Given the description of an element on the screen output the (x, y) to click on. 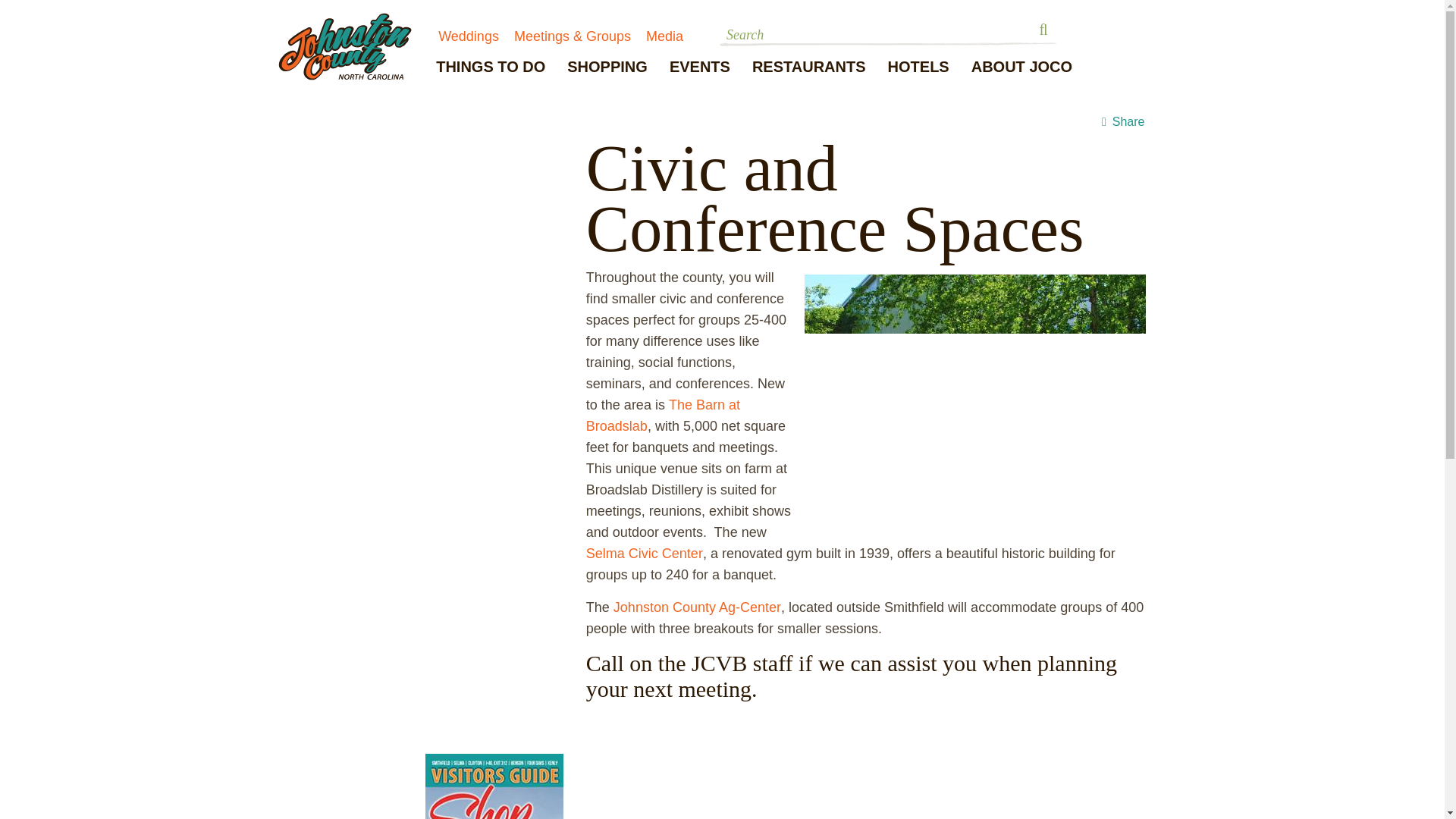
Media (664, 36)
Media (664, 36)
Weddings (468, 36)
Weddings (468, 36)
